Given the description of an element on the screen output the (x, y) to click on. 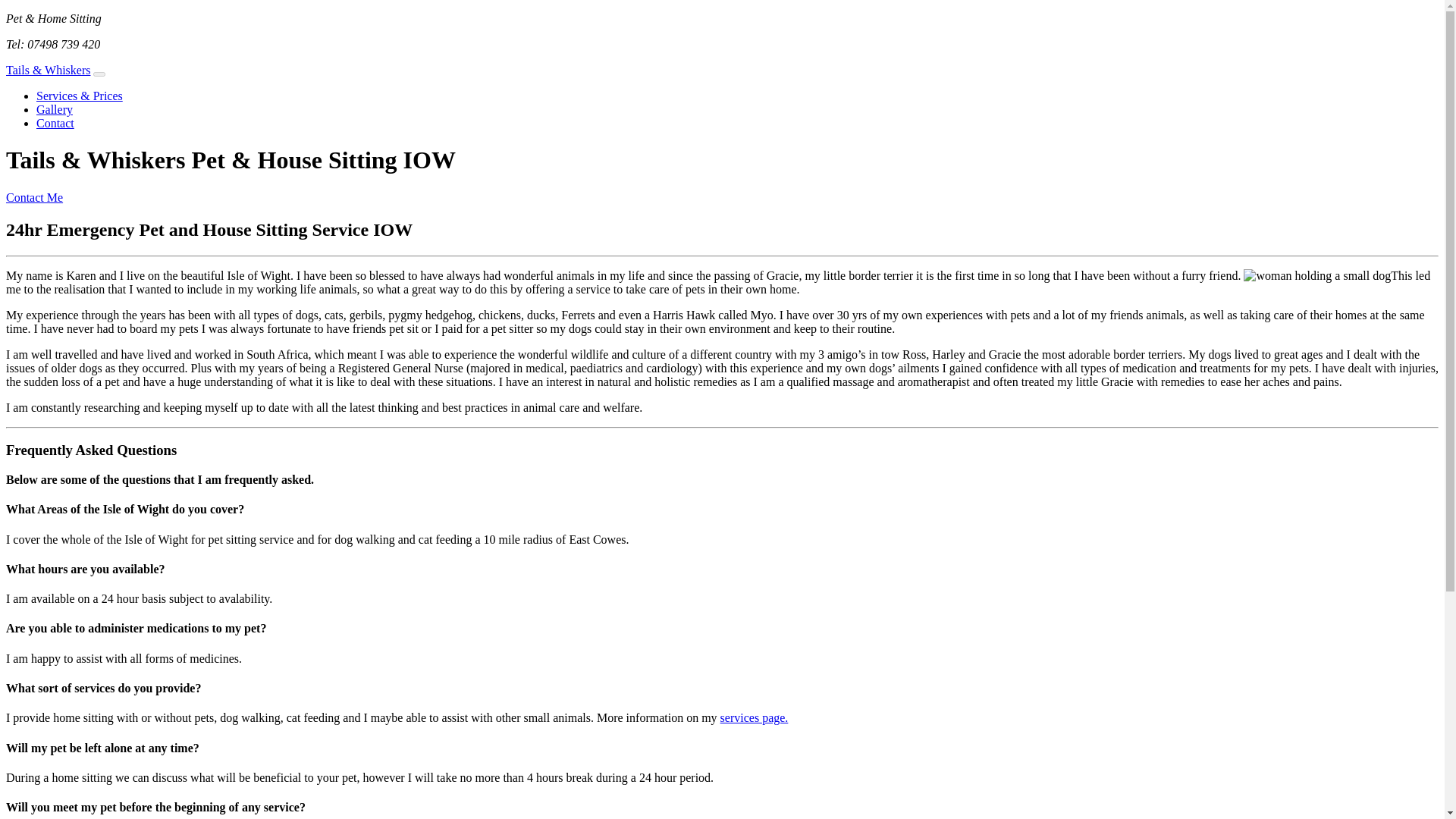
Contact (55, 123)
Contact Me (33, 196)
services page. (754, 717)
Gallery (54, 109)
